Given the description of an element on the screen output the (x, y) to click on. 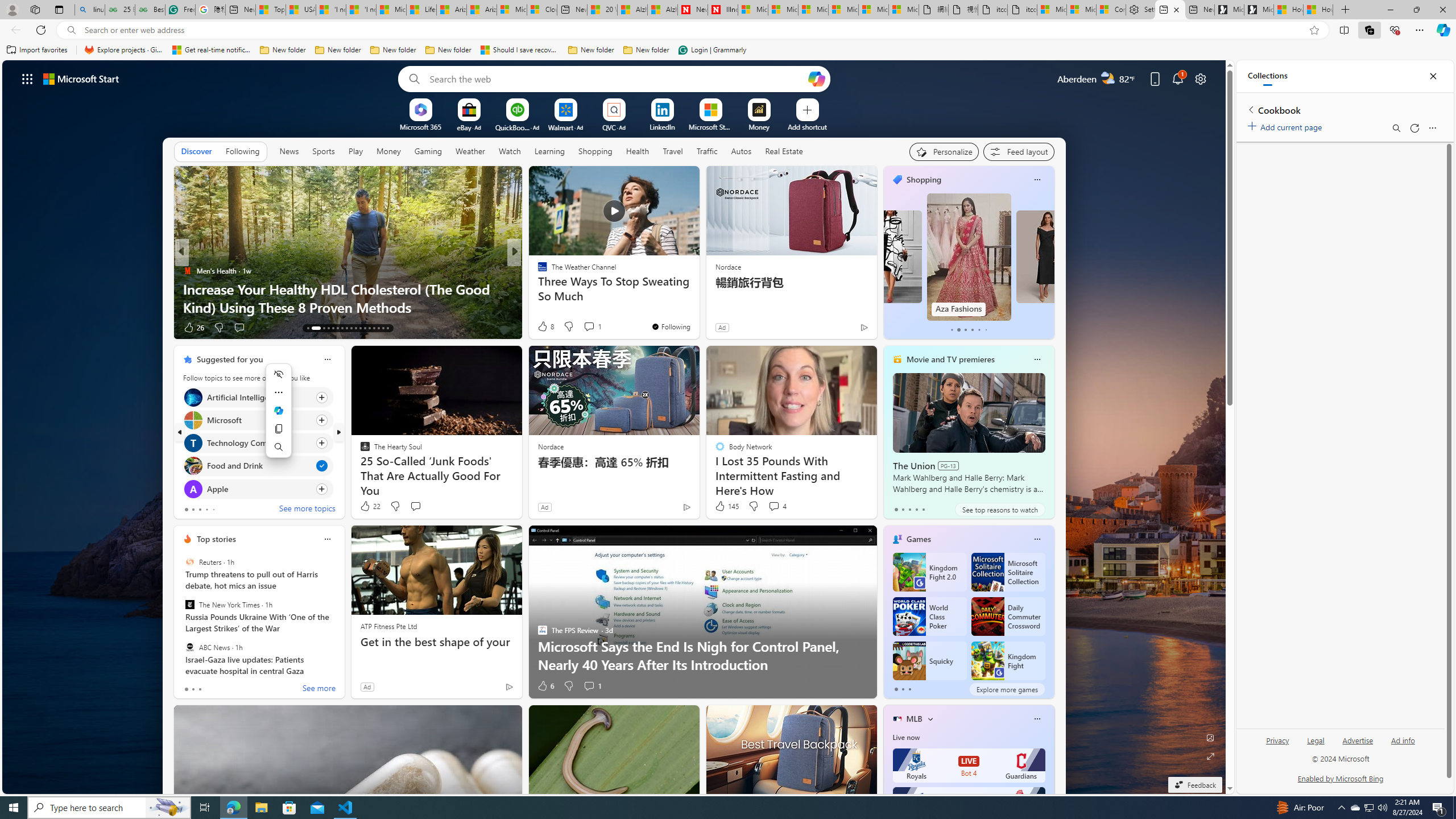
Shopping (595, 151)
AutomationID: tab-25 (368, 328)
Page settings (1200, 78)
AutomationID: tab-13 (307, 328)
Sports (323, 151)
See more topics (306, 509)
I Lost 100 Pounds by Eating the Meal I Love (697, 307)
AutomationID: tab-21 (350, 328)
222 Like (545, 327)
